Given the description of an element on the screen output the (x, y) to click on. 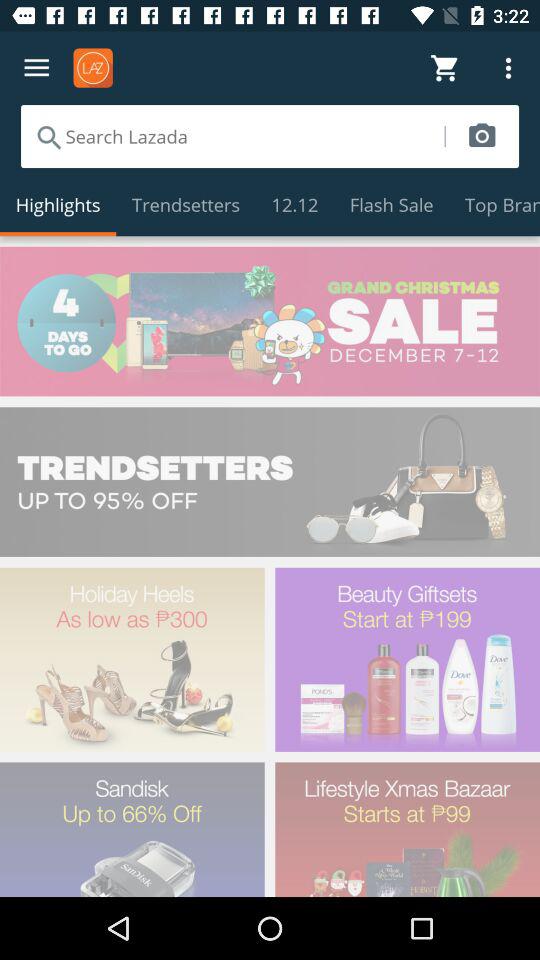
check out the items that are 95 off (270, 481)
